Given the description of an element on the screen output the (x, y) to click on. 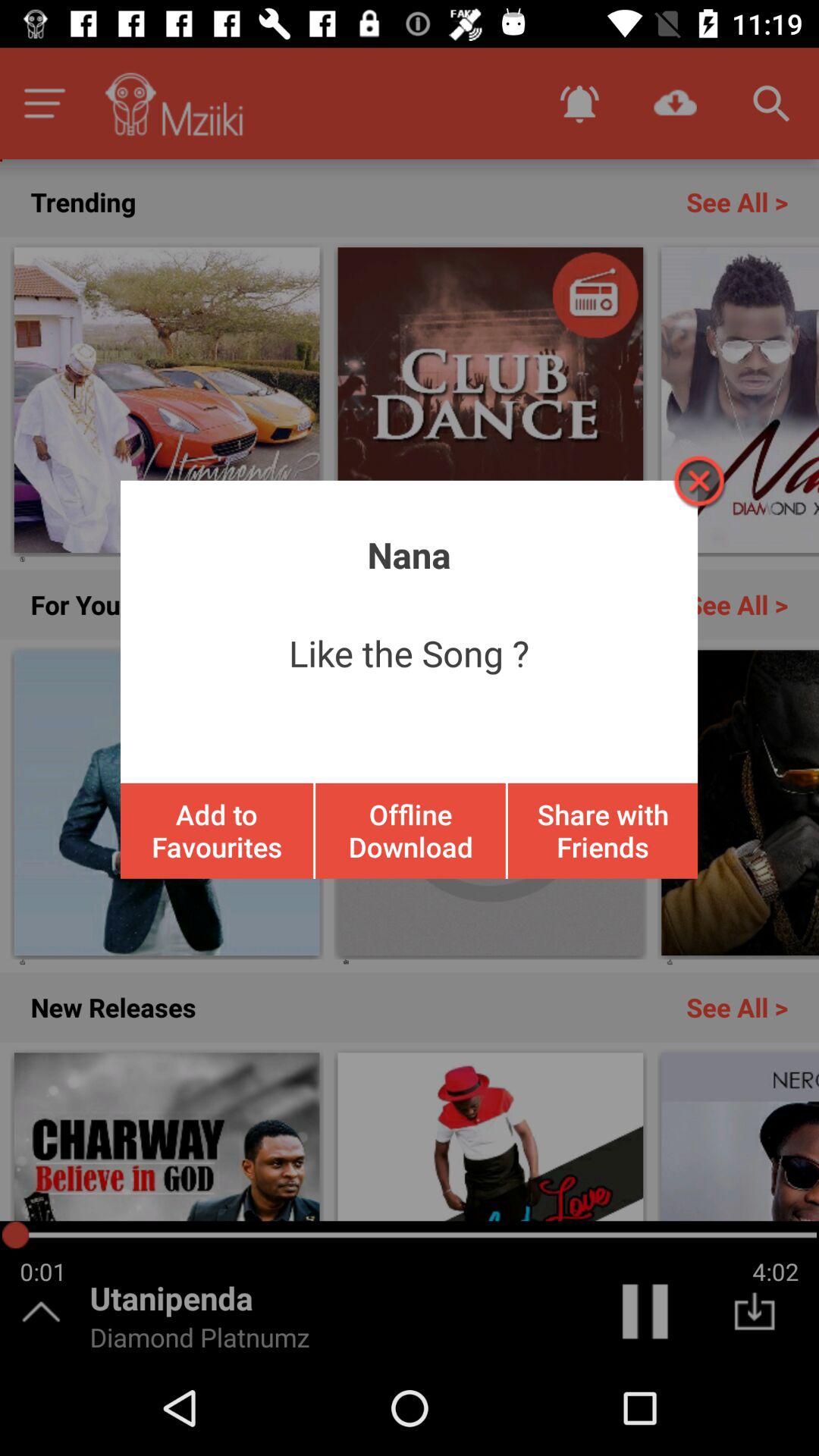
choose icon above the nana item (698, 480)
